Given the description of an element on the screen output the (x, y) to click on. 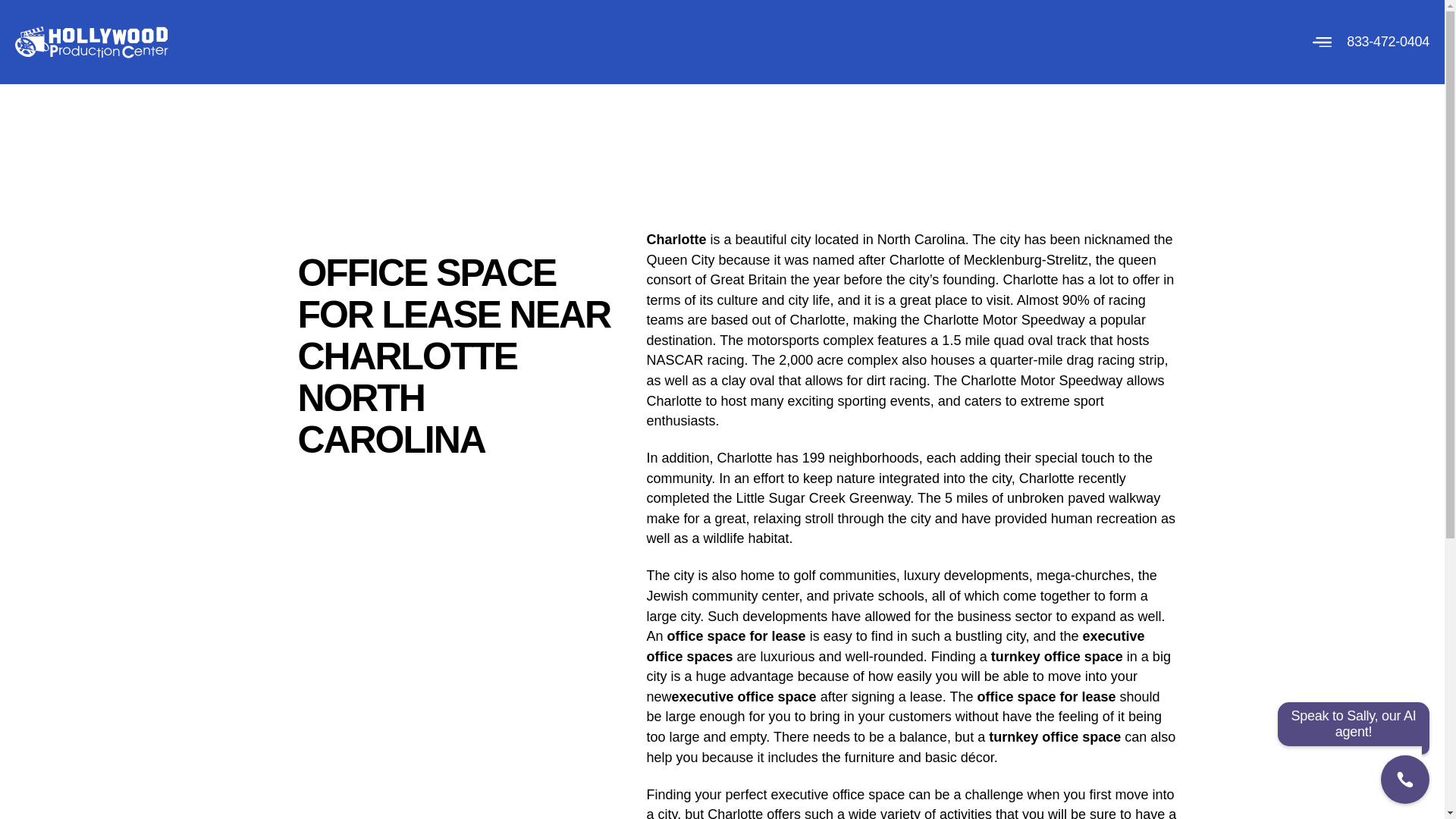
833-472-0404 (1387, 41)
